Given the description of an element on the screen output the (x, y) to click on. 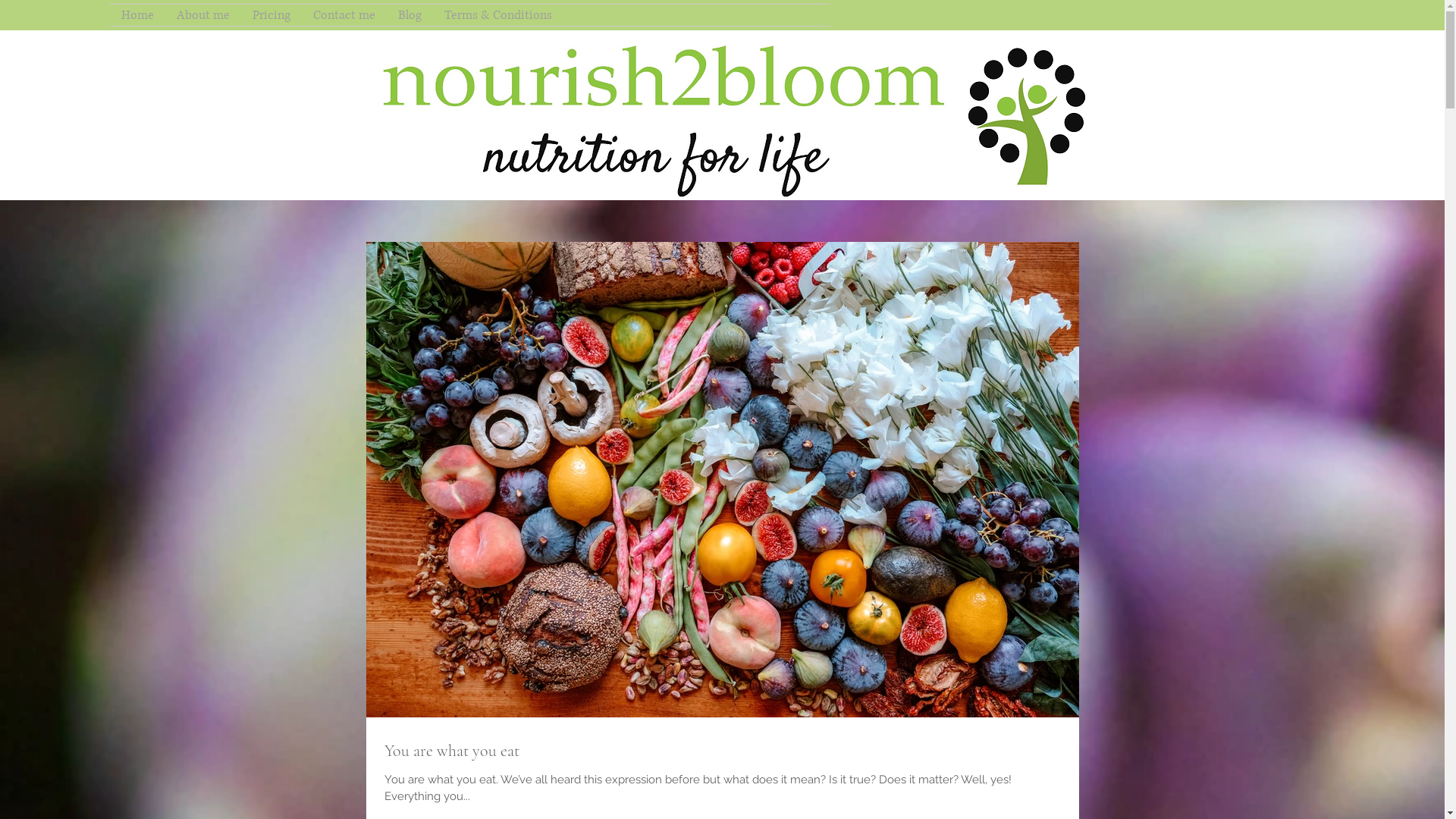
Pricing Element type: text (271, 14)
Home Element type: text (137, 14)
Blog Element type: text (409, 14)
Contact me Element type: text (343, 14)
About me Element type: text (203, 14)
You are what you eat Element type: text (721, 750)
Terms & Conditions Element type: text (498, 14)
